Given the description of an element on the screen output the (x, y) to click on. 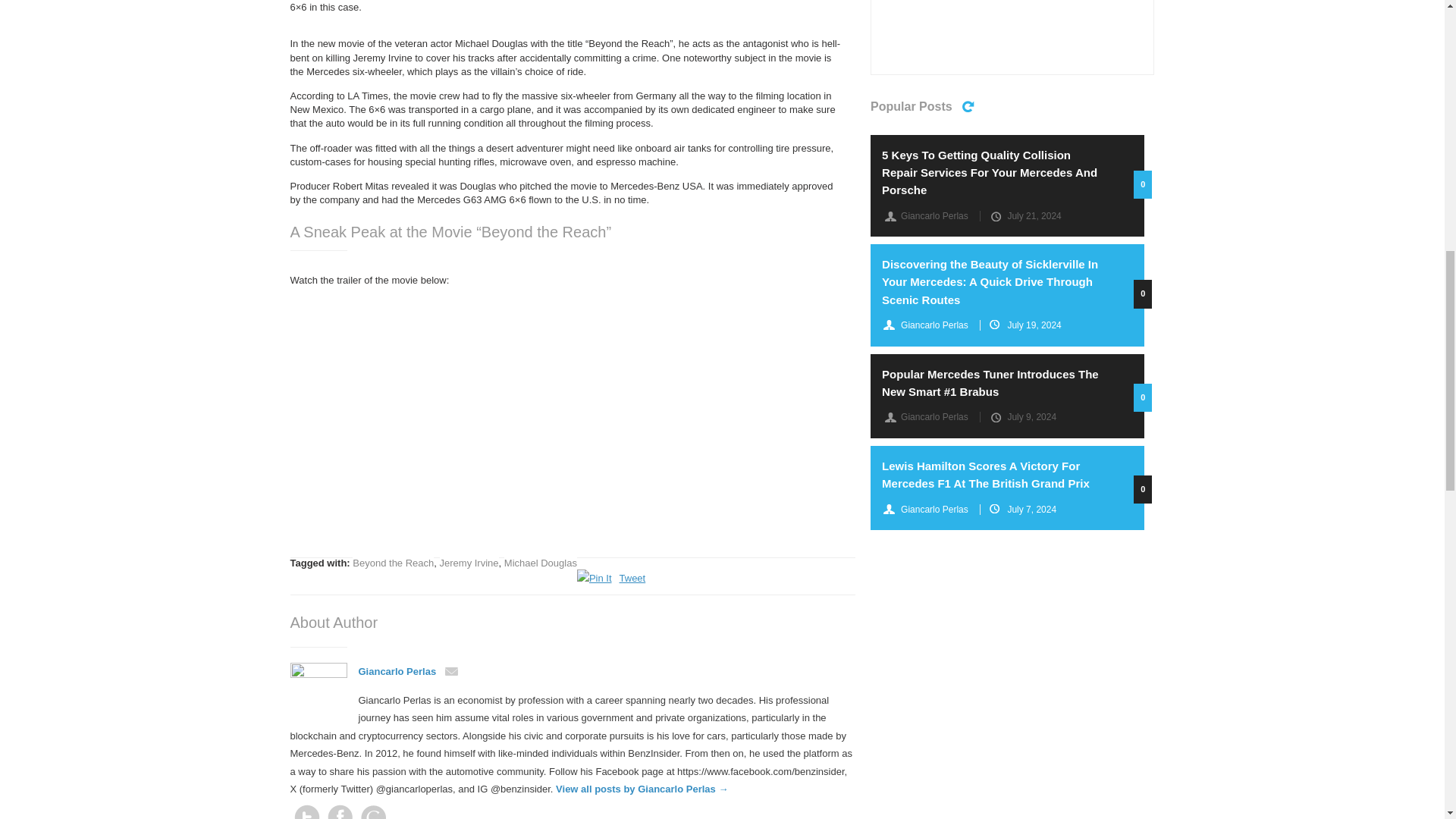
Send email (408, 671)
Pin It (593, 578)
